Given the description of an element on the screen output the (x, y) to click on. 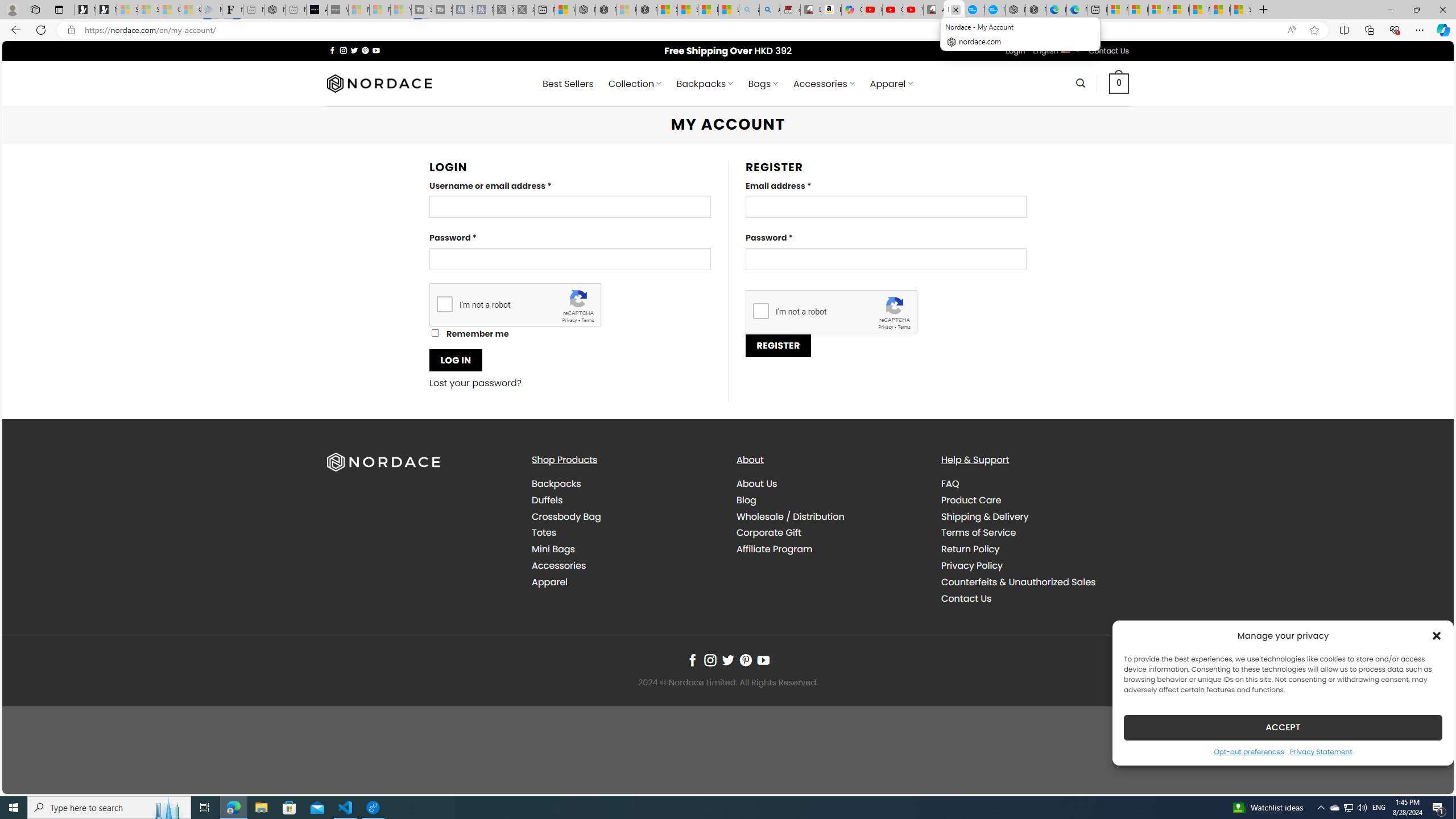
Affiliate Program (830, 549)
FAQ (949, 483)
 0  (1118, 83)
Privacy (885, 326)
Microsoft account | Microsoft Account Privacy Settings (1137, 9)
What's the best AI voice generator? - voice.ai - Sleeping (337, 9)
Newsletter Sign Up (106, 9)
Copilot (851, 9)
Backpacks (625, 483)
Nordace - My Account (954, 9)
